Given the description of an element on the screen output the (x, y) to click on. 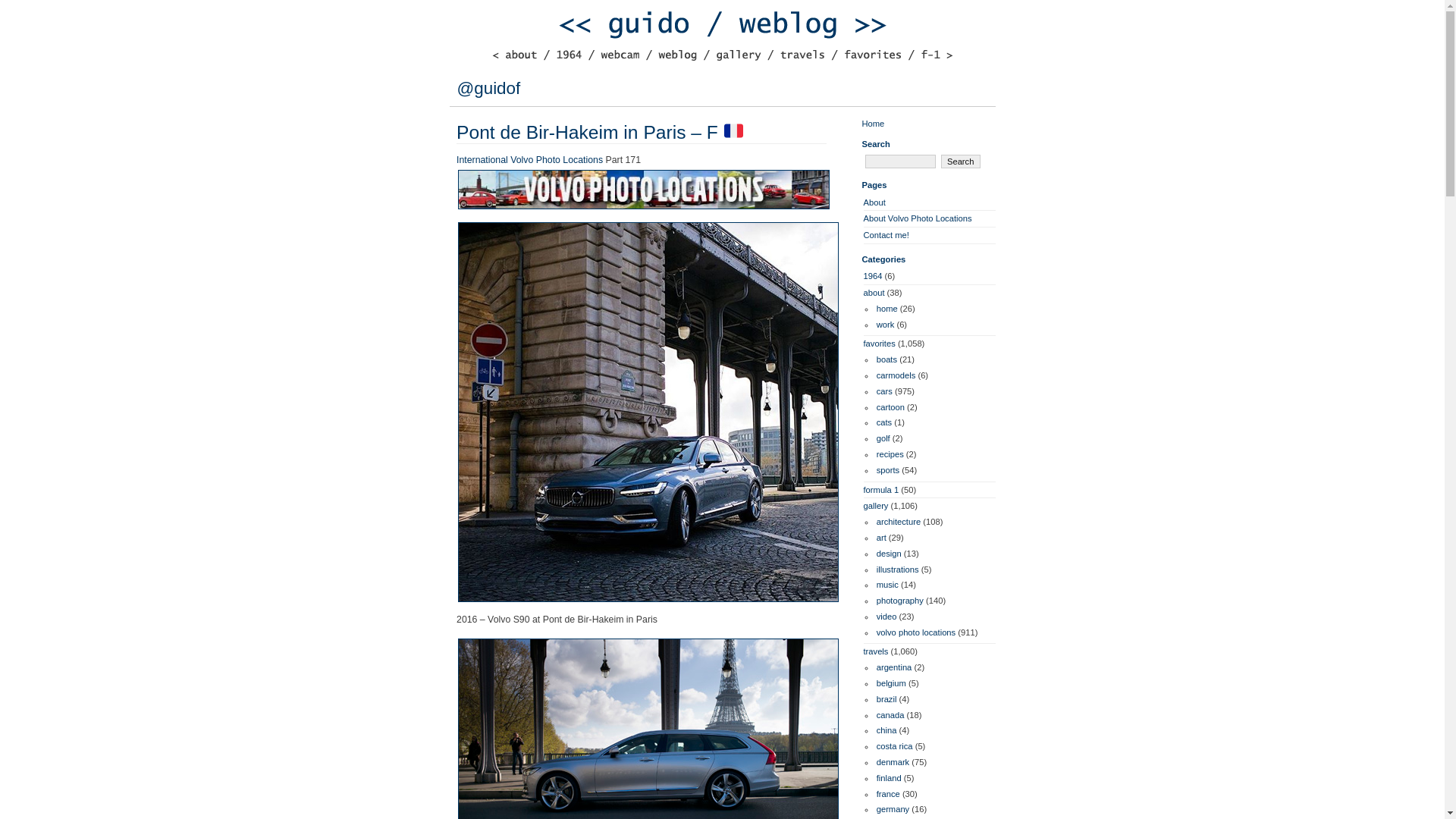
About Volvo Photo Locations (917, 217)
Search (959, 161)
cars (884, 390)
Search (959, 161)
cats (884, 421)
boats (886, 358)
1964 (872, 275)
International Volvo Photo Locations (529, 159)
Home (872, 122)
work (885, 324)
favorites (879, 343)
carmodels (895, 375)
cartoon (890, 406)
home (887, 307)
Contact me! (885, 234)
